Given the description of an element on the screen output the (x, y) to click on. 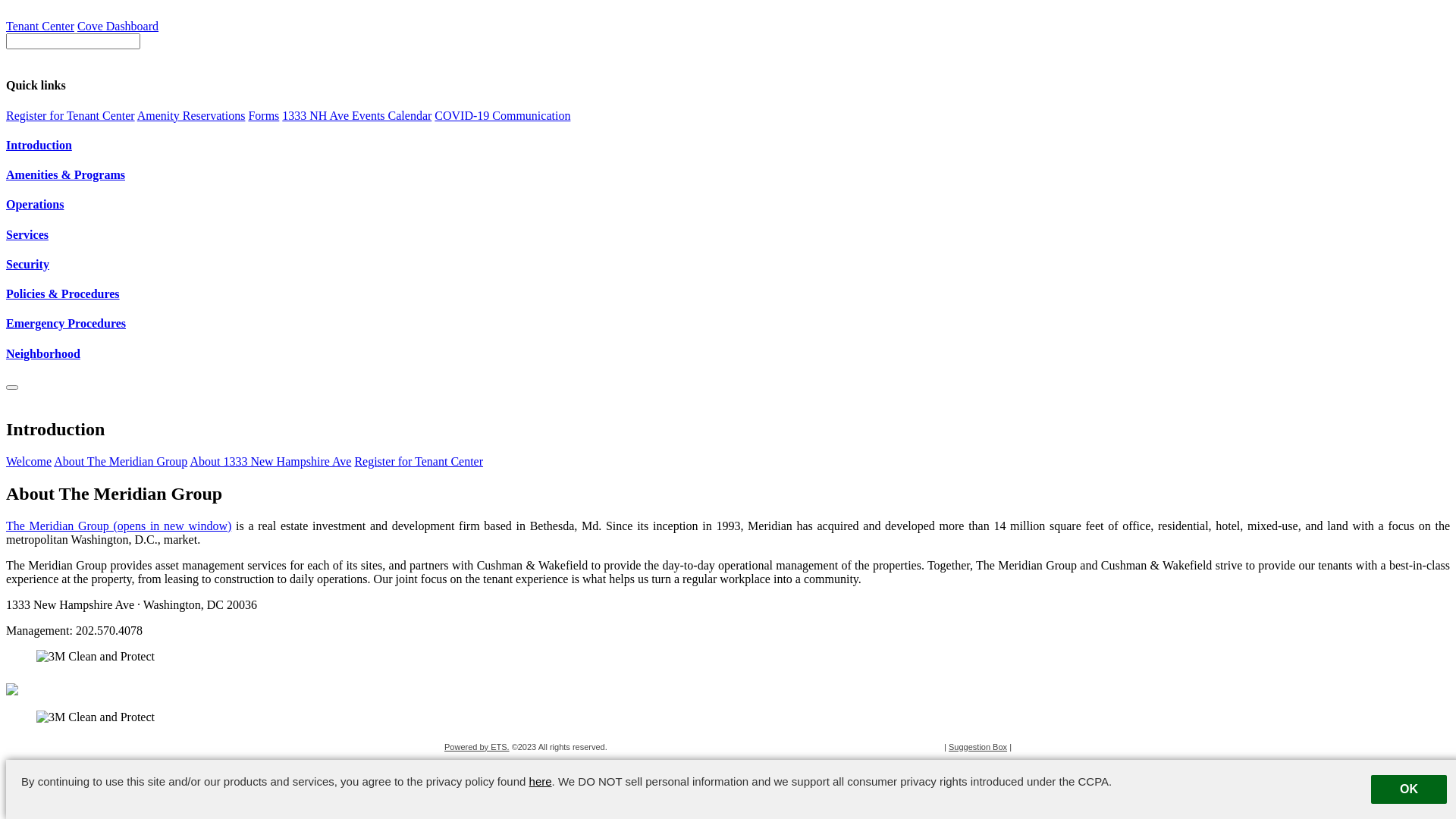
Welcome Element type: text (28, 461)
Cove Dashboard Element type: text (117, 25)
Amenities & Programs Element type: text (727, 175)
About 1333 New Hampshire Ave Element type: text (270, 461)
The Meridian Group (opens in new window) Element type: text (118, 525)
Register for Tenant Center Element type: text (418, 461)
Neighborhood Element type: text (727, 353)
Security Element type: text (727, 264)
Suggestion Box Element type: text (977, 746)
Amenity Reservations Element type: text (191, 115)
Emergency Procedures Element type: text (727, 323)
Services Element type: text (727, 234)
1333 NH Ave Events Calendar Element type: text (356, 115)
here Element type: text (540, 781)
Register for Tenant Center Element type: text (70, 115)
Powered by ETS. Element type: text (476, 746)
Operations Element type: text (727, 204)
Introduction Element type: text (727, 145)
COVID-19 Communication Element type: text (502, 115)
Tenant Center Element type: text (40, 25)
Forms Element type: text (263, 115)
Policies & Procedures Element type: text (727, 294)
About The Meridian Group Element type: text (120, 461)
